Given the description of an element on the screen output the (x, y) to click on. 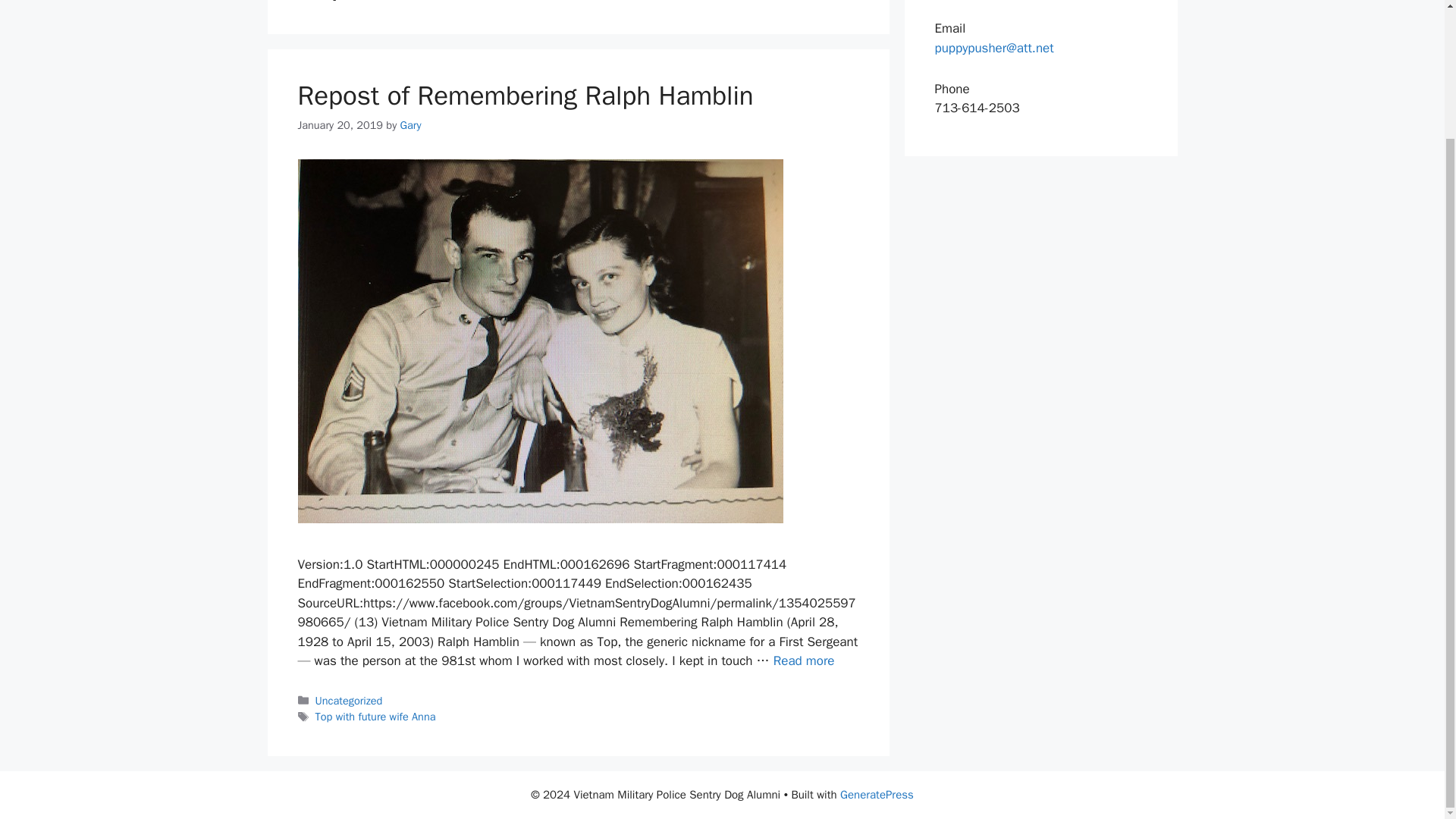
Read more (803, 660)
Repost of Remembering Ralph Hamblin (803, 660)
Top with future wife Anna (375, 716)
GeneratePress (877, 794)
Gary (411, 124)
Repost of Remembering Ralph Hamblin (524, 95)
Uncategorized (348, 700)
View all posts by Gary (411, 124)
